Given the description of an element on the screen output the (x, y) to click on. 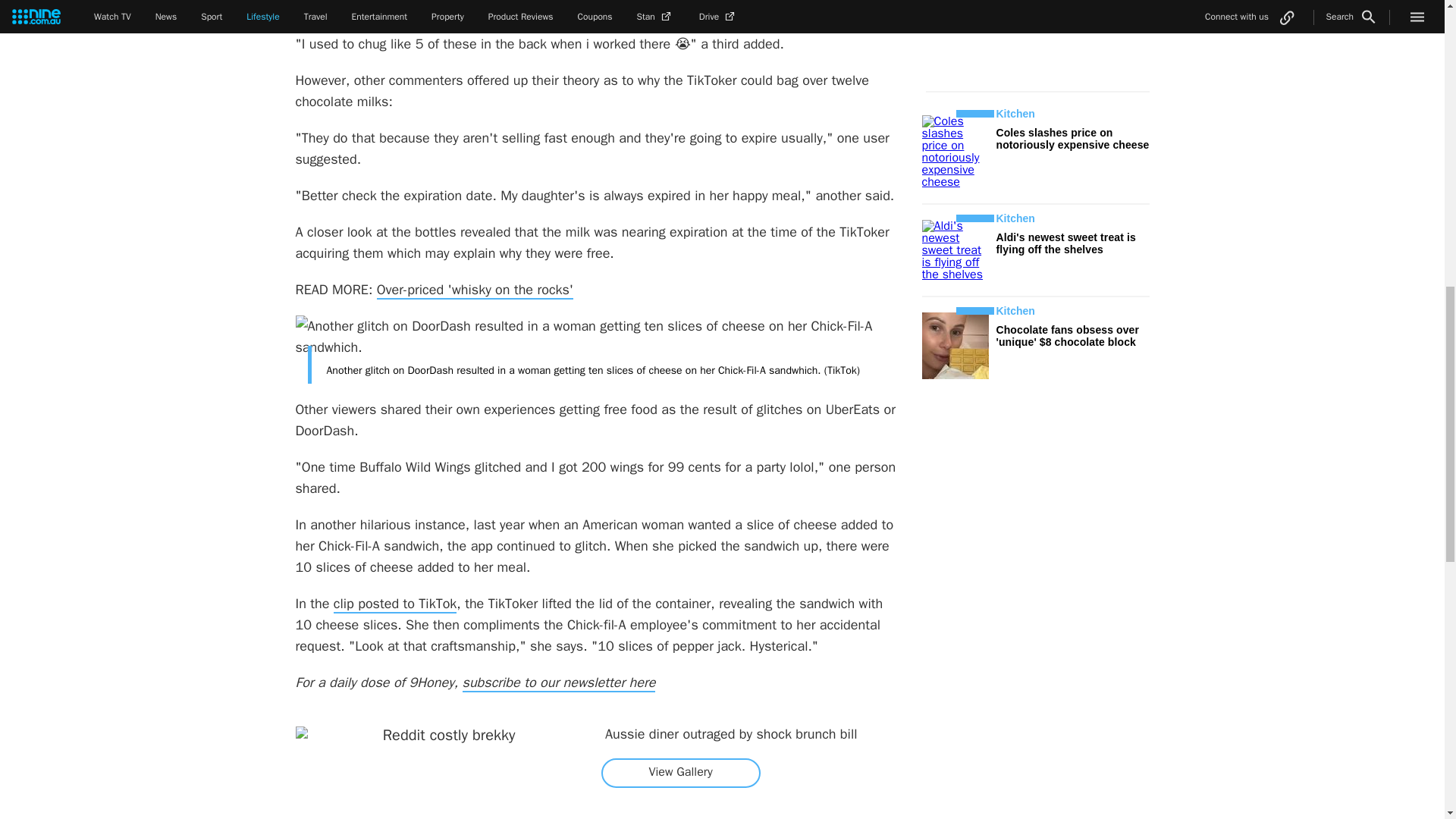
View Gallery (680, 771)
Homemade pizza recipes for summer entertaining (524, 8)
Homemade pizza recipes for summer entertaining (524, 8)
clip posted to TikTok (395, 604)
Over-priced 'whisky on the rocks' (475, 290)
subscribe to our newsletter here (559, 683)
Over-priced 'whisky on the rocks' (475, 290)
clip posted to TikTok (395, 604)
